Given the description of an element on the screen output the (x, y) to click on. 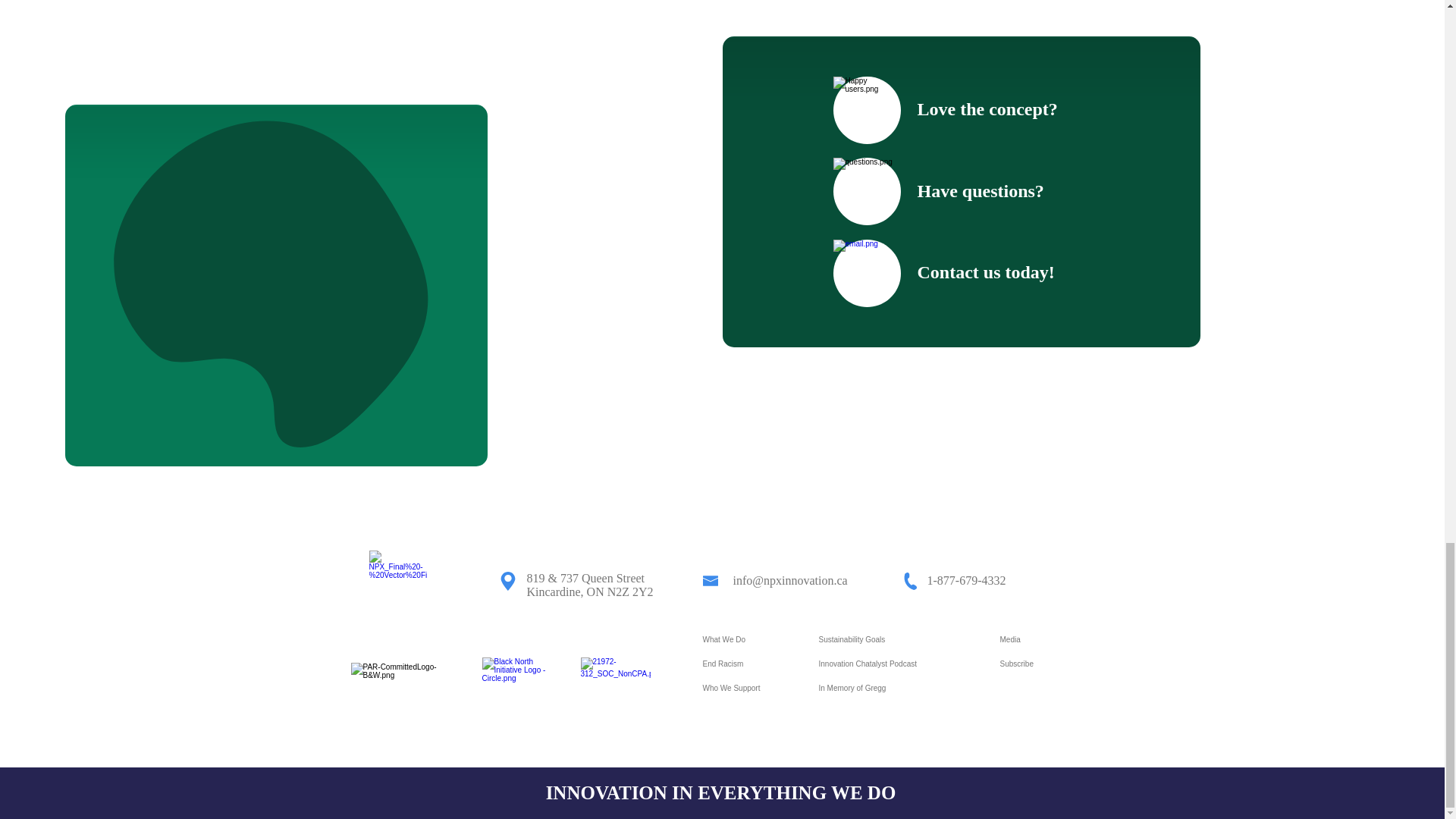
Contact us today! (985, 271)
Who We Support (748, 688)
Sustainability Goals (898, 639)
1-877-679-4332 (966, 580)
Subscribe (1045, 663)
End Racism (748, 663)
Media (1045, 639)
Innovation Chatalyst Podcast (898, 663)
In Memory of Gregg (898, 688)
